Given the description of an element on the screen output the (x, y) to click on. 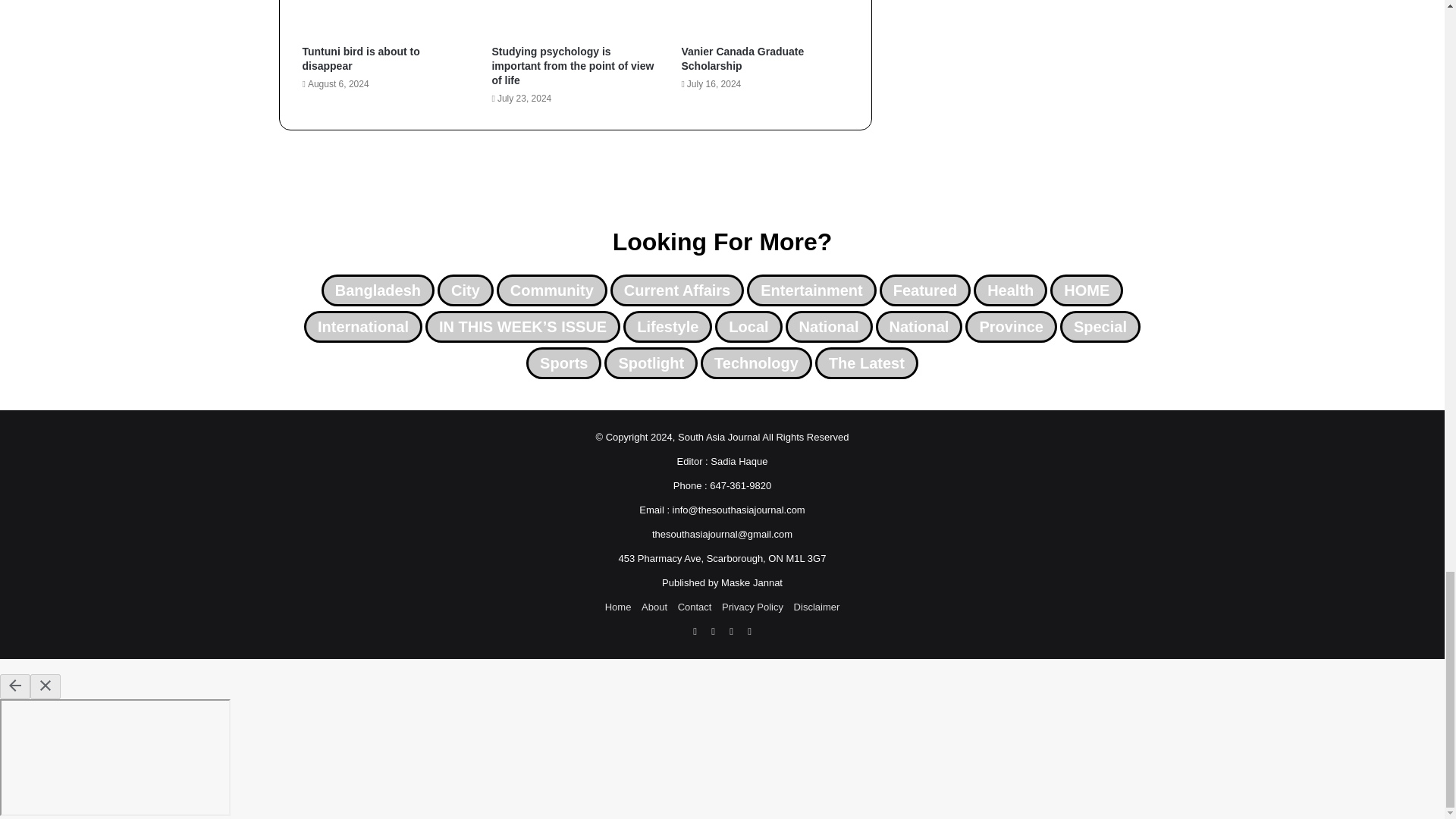
Tuntuni bird is about to disappear (360, 58)
Vanier Canada Graduate Scholarship (742, 58)
